Given the description of an element on the screen output the (x, y) to click on. 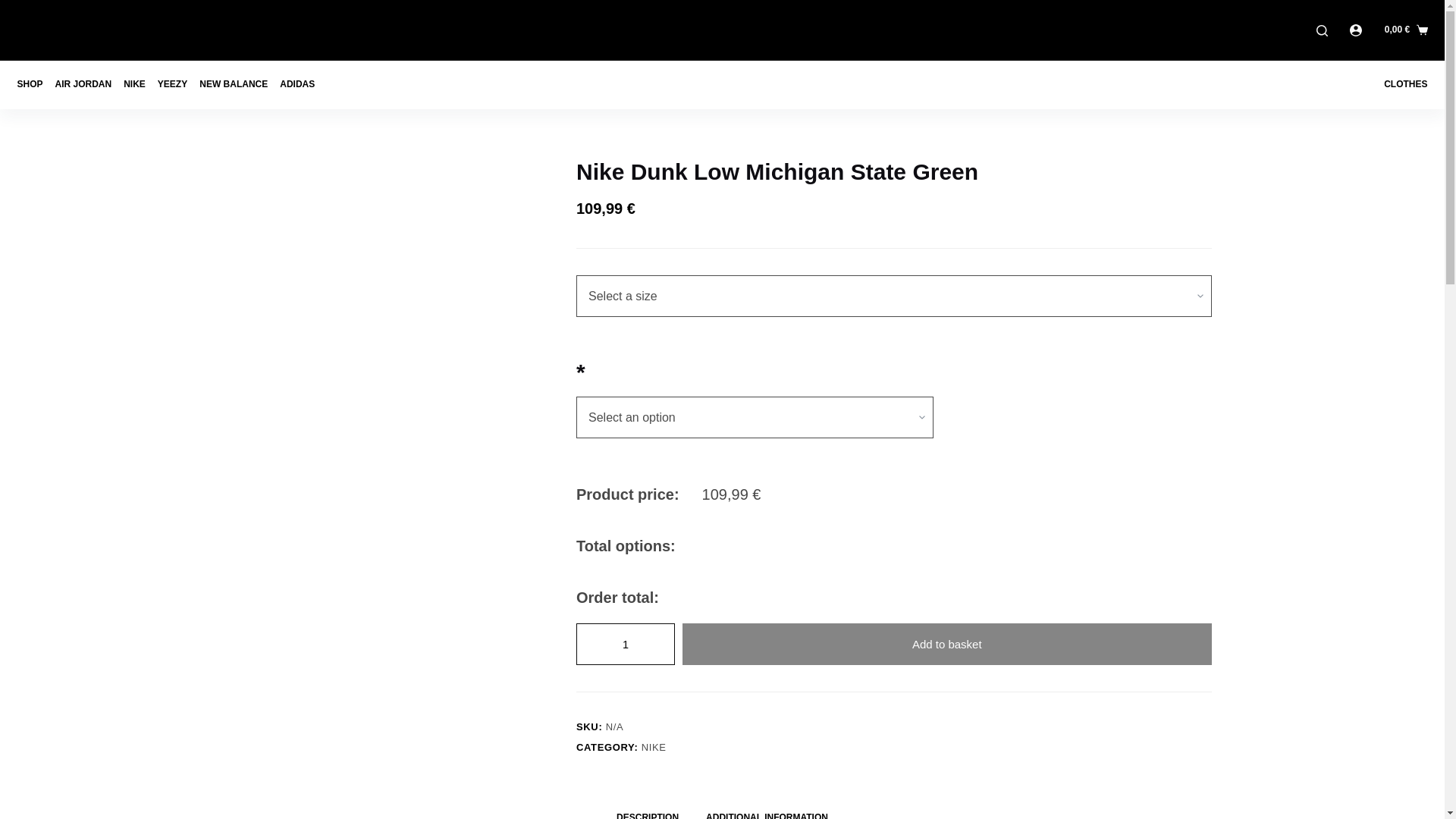
DESCRIPTION (647, 809)
NIKE (654, 747)
AIR JORDAN (83, 84)
ADIDAS (296, 84)
Add to basket (946, 644)
Nike-Dunk-Low-Michigan-State-Green (389, 248)
NEW BALANCE (233, 84)
1 (625, 644)
CLOTHES (1401, 84)
Skip to content (15, 7)
